Given the description of an element on the screen output the (x, y) to click on. 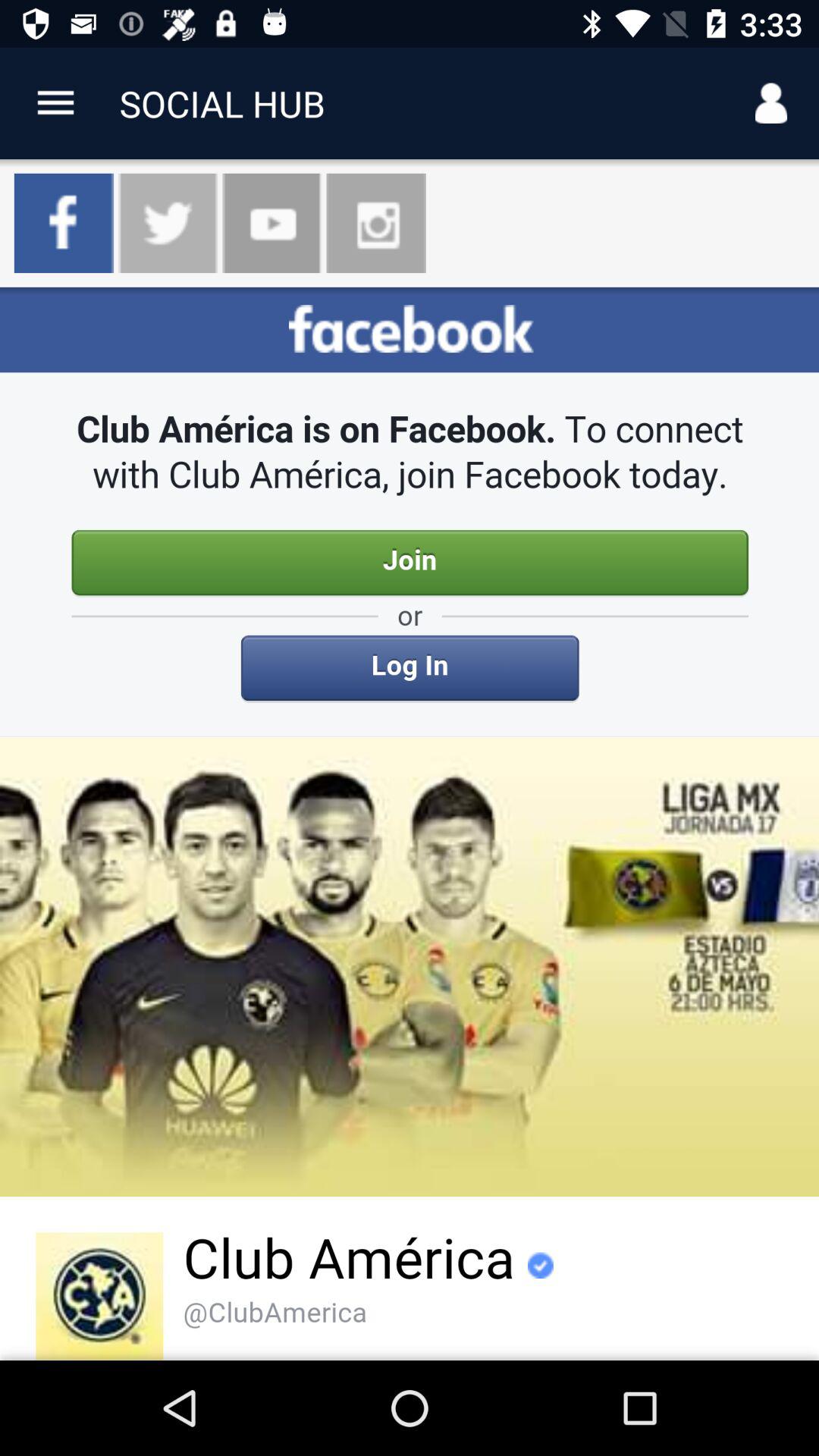
menu icon option (55, 103)
